Given the description of an element on the screen output the (x, y) to click on. 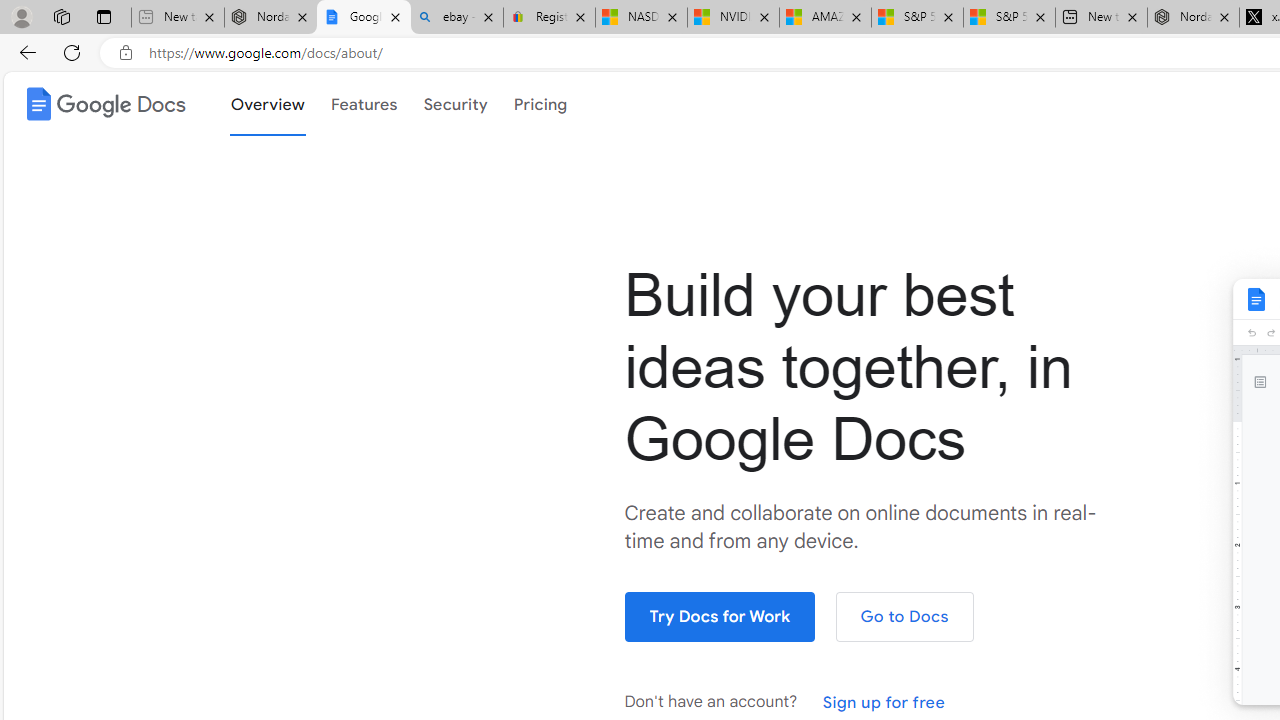
Try Docs for Work (720, 616)
Overview (267, 103)
Security (454, 103)
Pricing (540, 102)
Overview (267, 102)
Google Docs: Online Document Editor | Google Workspace (363, 17)
Register: Create a personal eBay account (549, 17)
